Given the description of an element on the screen output the (x, y) to click on. 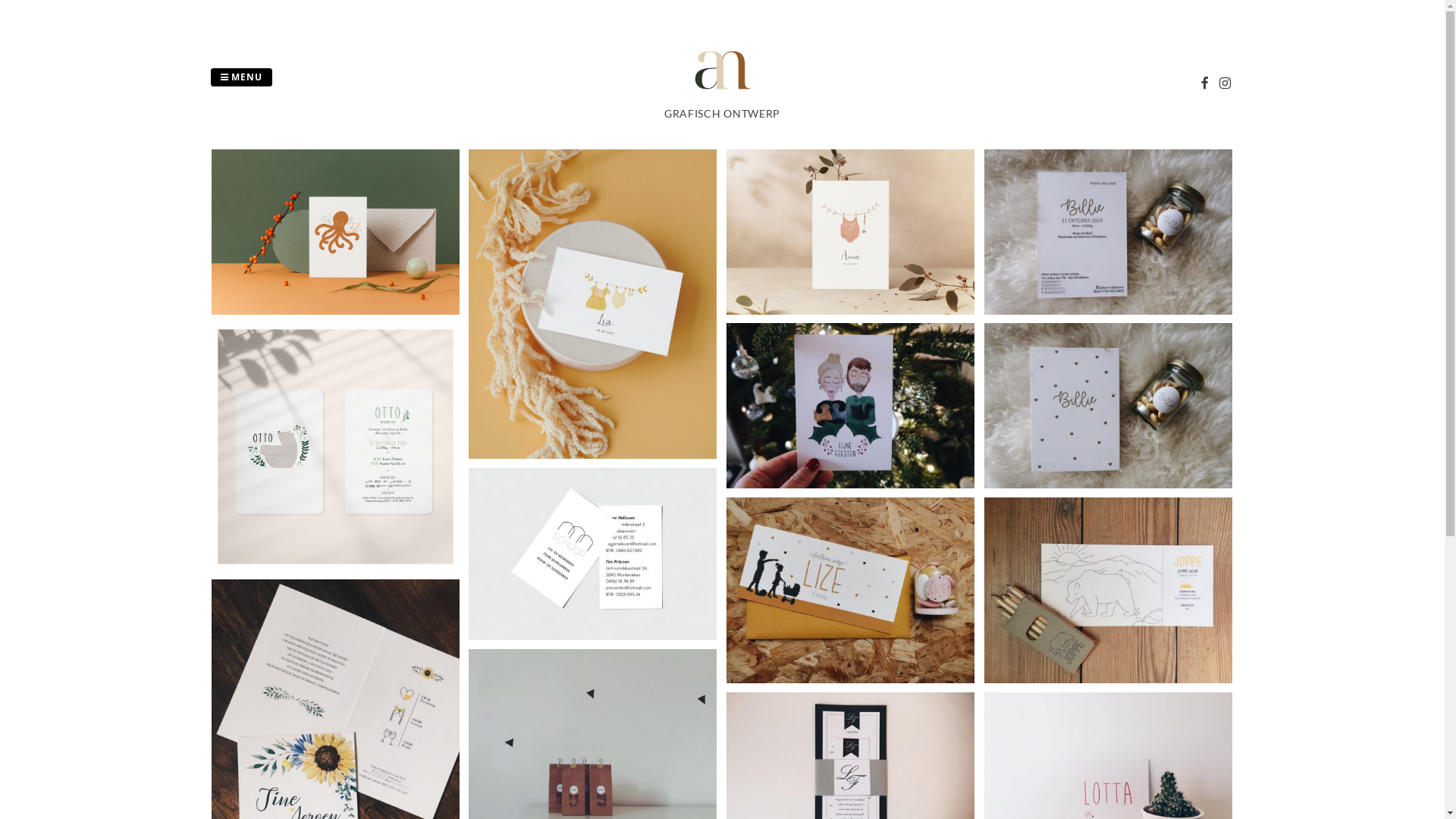
Anna Nelissen Element type: hover (722, 97)
Skip to content Element type: text (0, 0)
MENU Element type: text (241, 77)
